Given the description of an element on the screen output the (x, y) to click on. 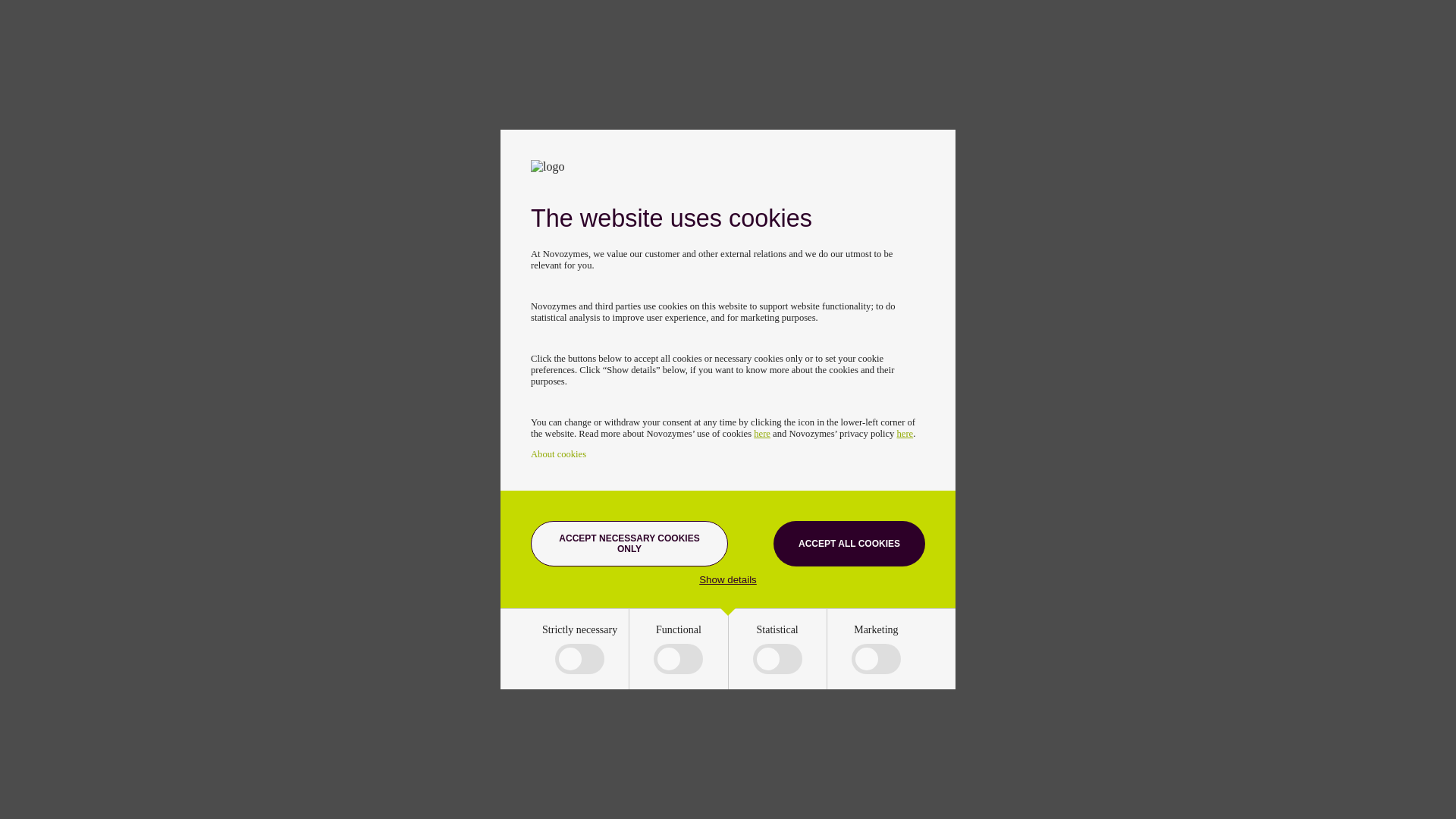
ACCEPT ALL COOKIES (848, 543)
here (762, 433)
here (905, 433)
About cookies (558, 453)
ACCEPT NECESSARY COOKIES ONLY (629, 543)
Show details (727, 579)
